Given the description of an element on the screen output the (x, y) to click on. 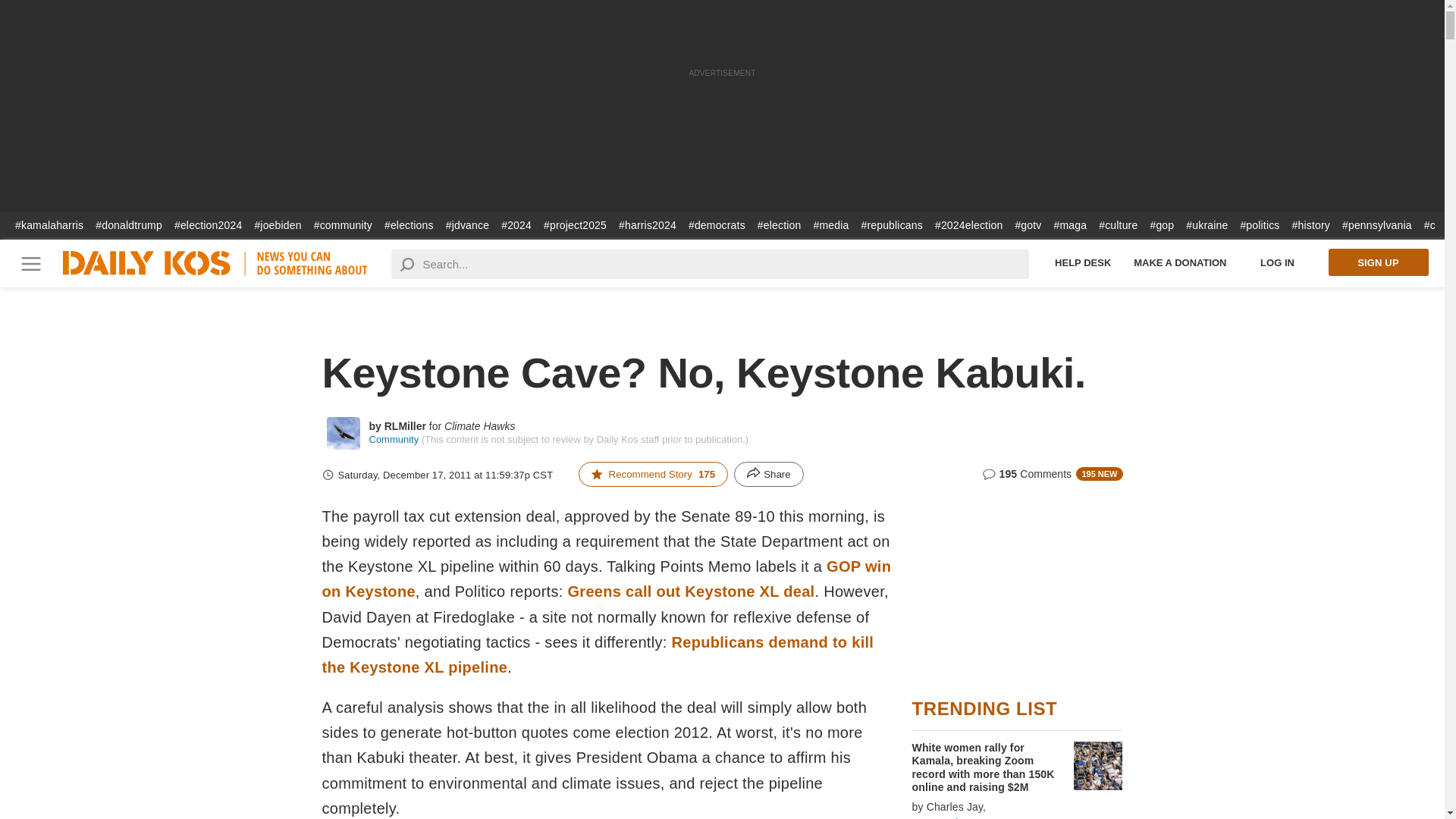
Help Desk (1082, 262)
MAKE A DONATION (1179, 262)
Make a Donation (1179, 262)
